Given the description of an element on the screen output the (x, y) to click on. 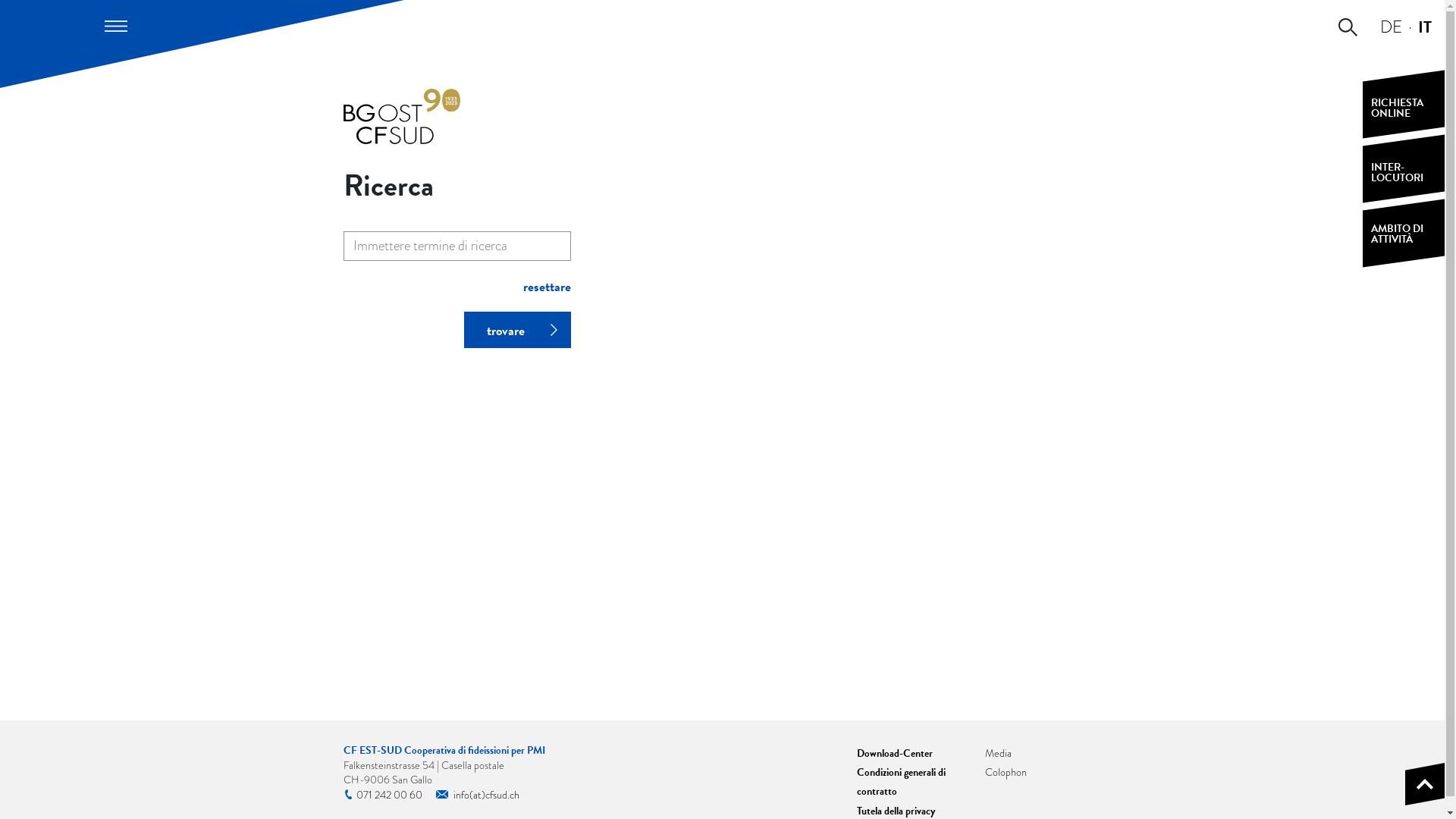
INTER-
LOCUTORI Element type: text (1403, 168)
071 242 00 60 Element type: text (381, 794)
info(at)cfsud.ch Element type: text (476, 794)
trovare Element type: text (517, 329)
Media Element type: text (998, 752)
Colophon Element type: text (1005, 771)
DE Element type: text (1391, 26)
Download-Center Element type: text (894, 753)
RICHIESTA ONLINE Element type: text (1403, 103)
resettare Element type: text (547, 286)
IT Element type: text (1424, 26)
Condizioni generali di contratto Element type: text (900, 781)
